Given the description of an element on the screen output the (x, y) to click on. 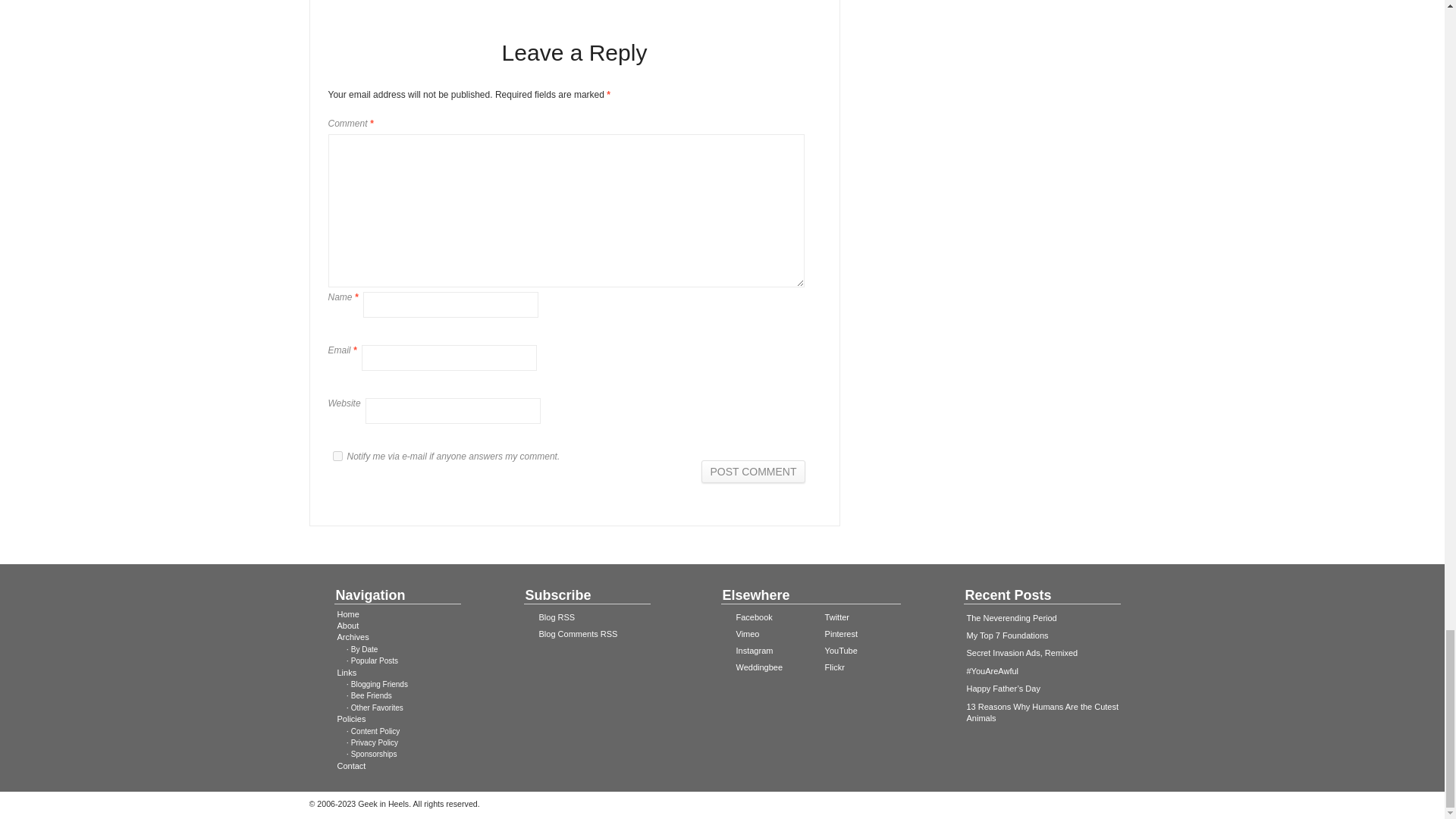
on (336, 456)
Post Comment (753, 471)
